Given the description of an element on the screen output the (x, y) to click on. 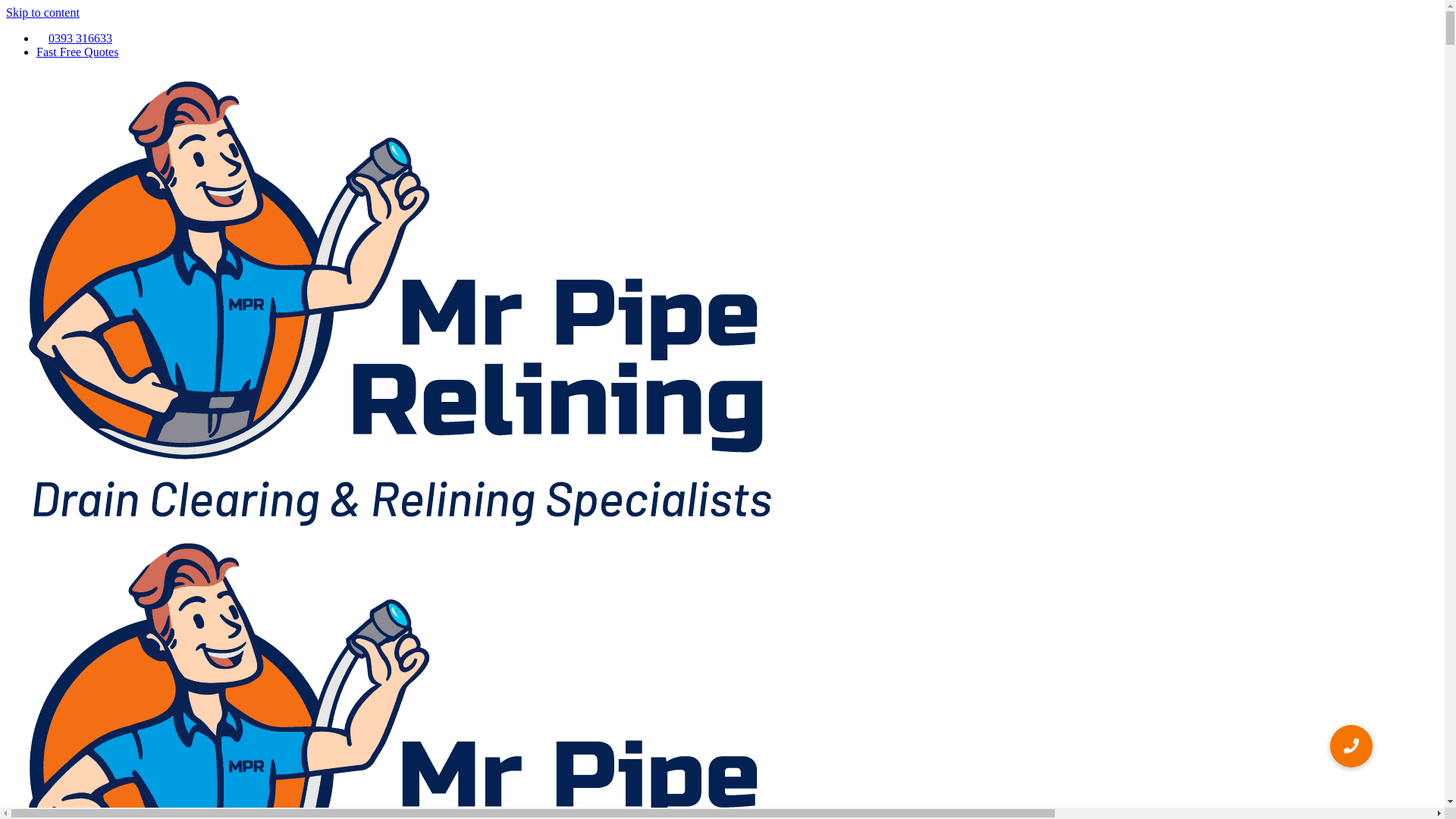
Skip to content Element type: text (42, 12)
Fast Free Quotes Element type: text (77, 51)
0393 316633 Element type: text (74, 37)
